Given the description of an element on the screen output the (x, y) to click on. 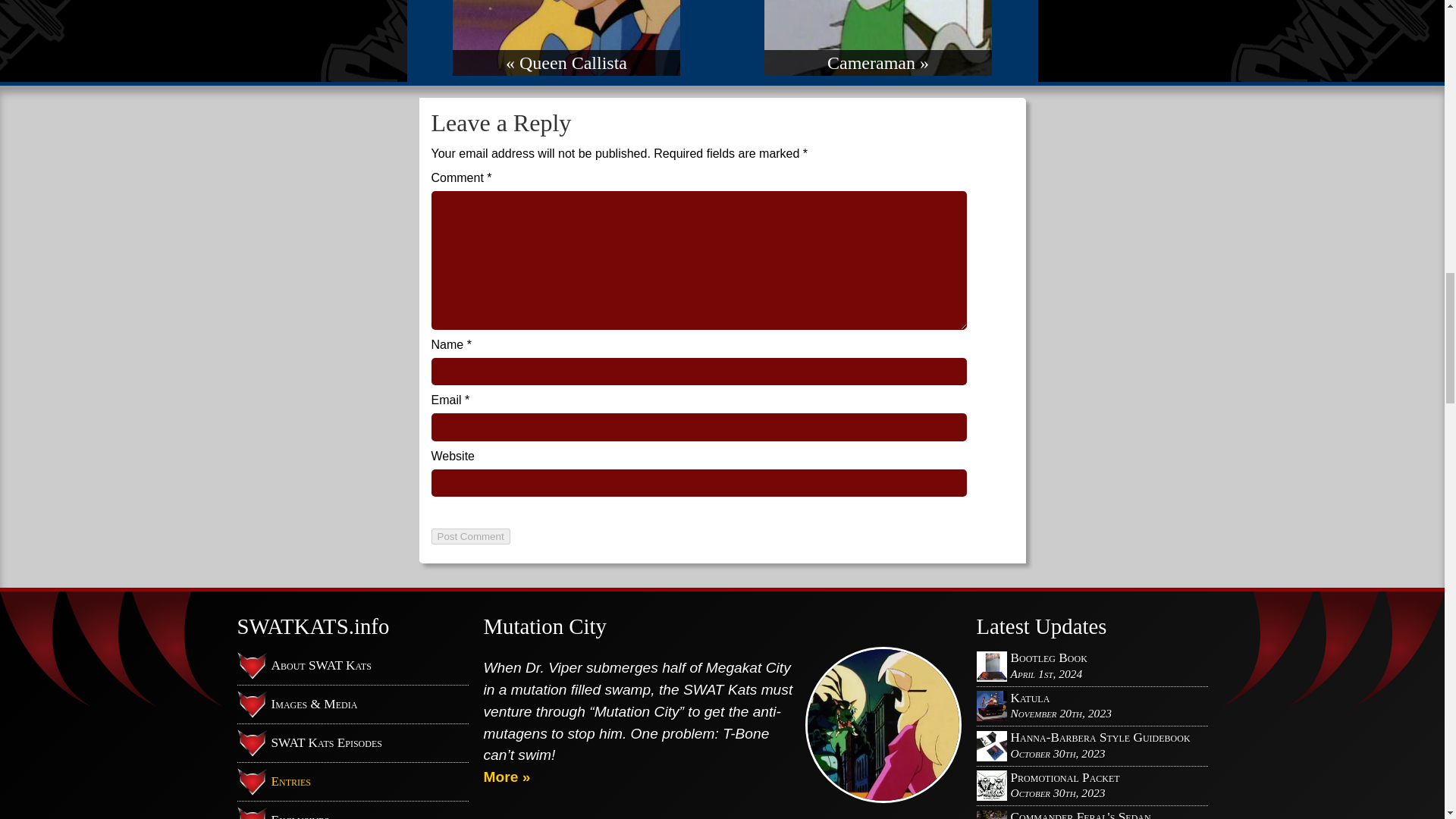
Post Comment (469, 536)
